Given the description of an element on the screen output the (x, y) to click on. 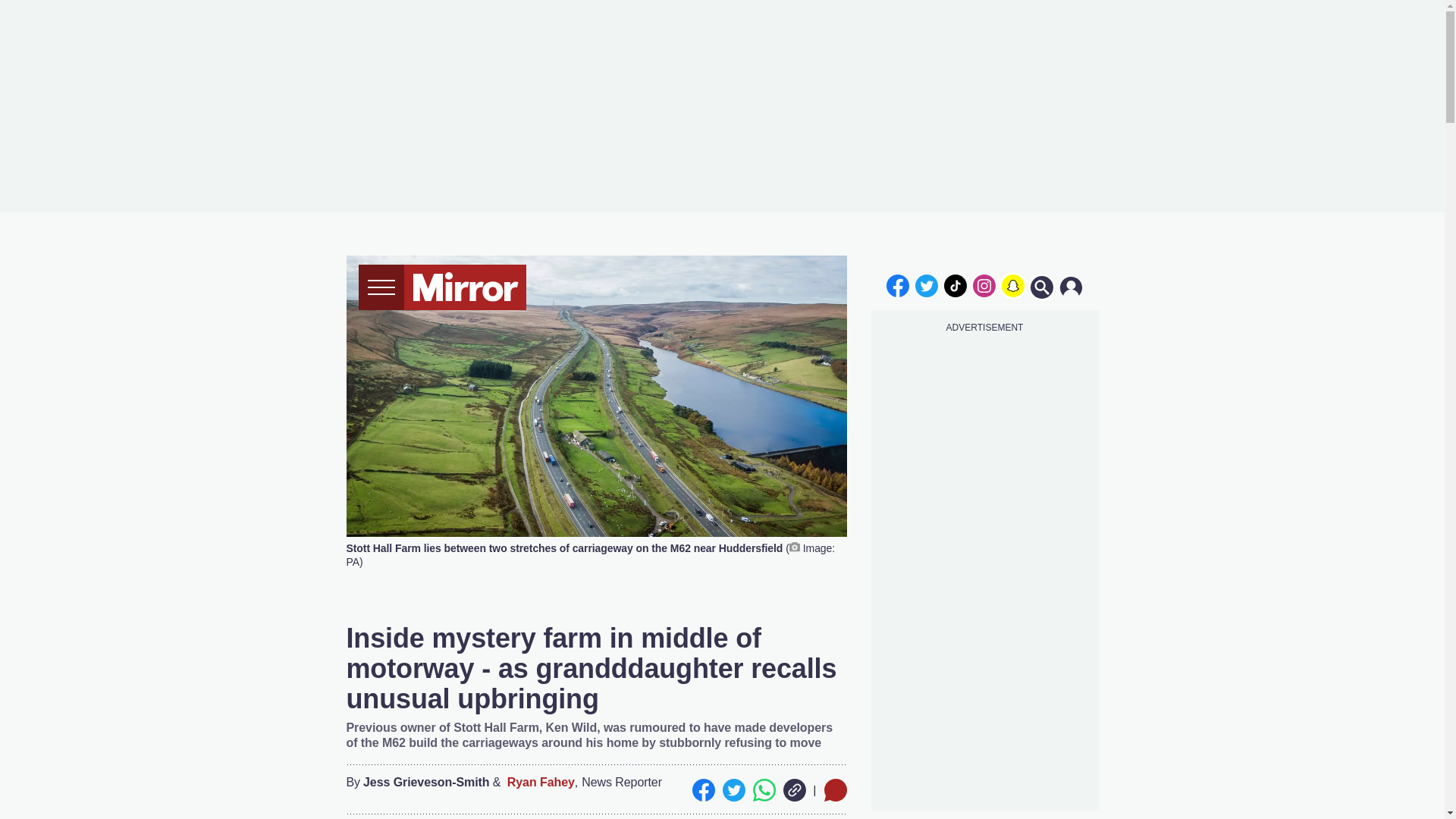
Whatsapp (763, 789)
snapchat (1012, 285)
twitter (926, 285)
Facebook (702, 789)
facebook (897, 285)
Twitter (733, 789)
Ryan Fahey (540, 782)
Comments (834, 789)
tiktok (955, 285)
instagram (984, 285)
